Given the description of an element on the screen output the (x, y) to click on. 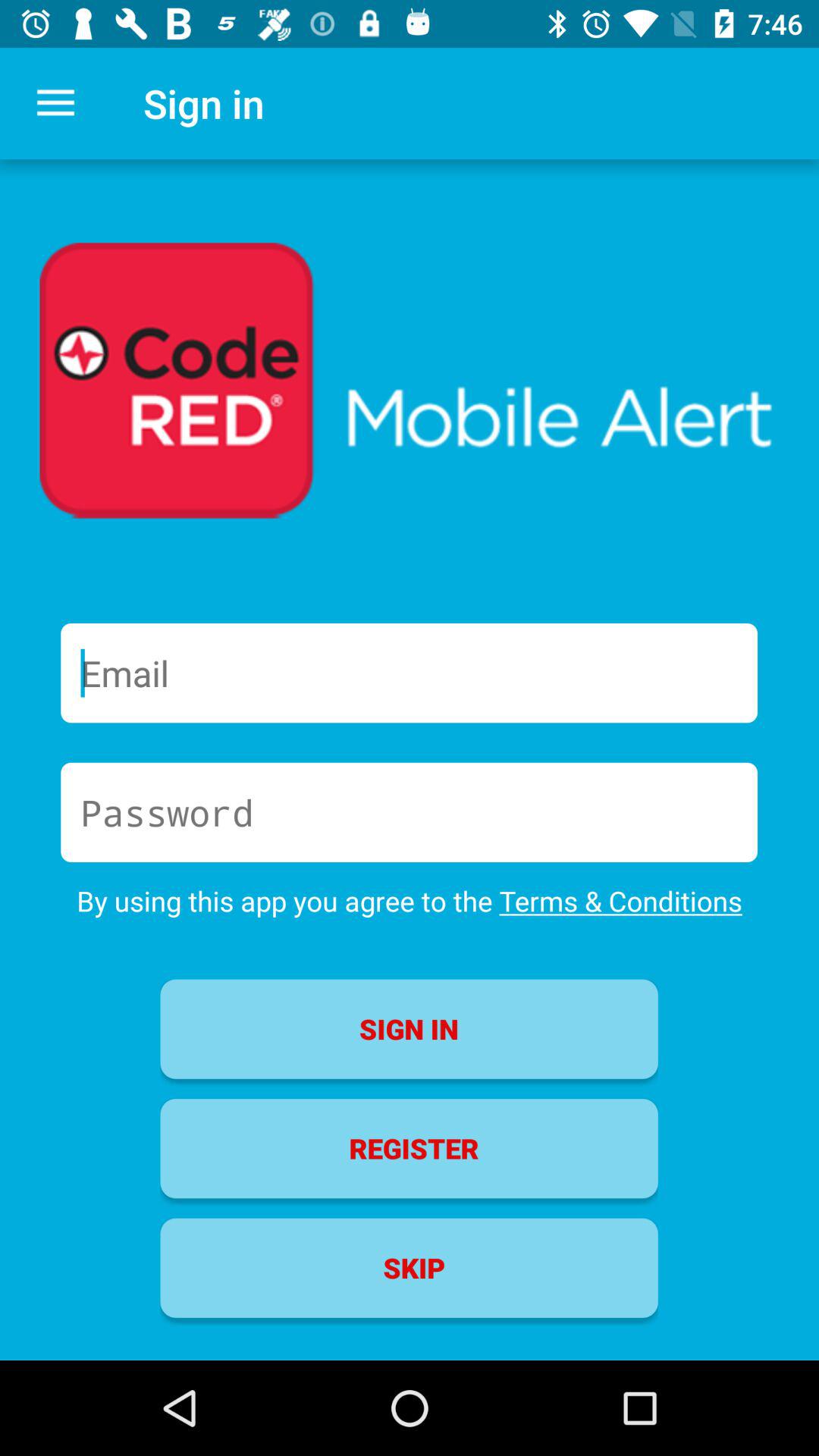
click the item below register item (409, 1267)
